Given the description of an element on the screen output the (x, y) to click on. 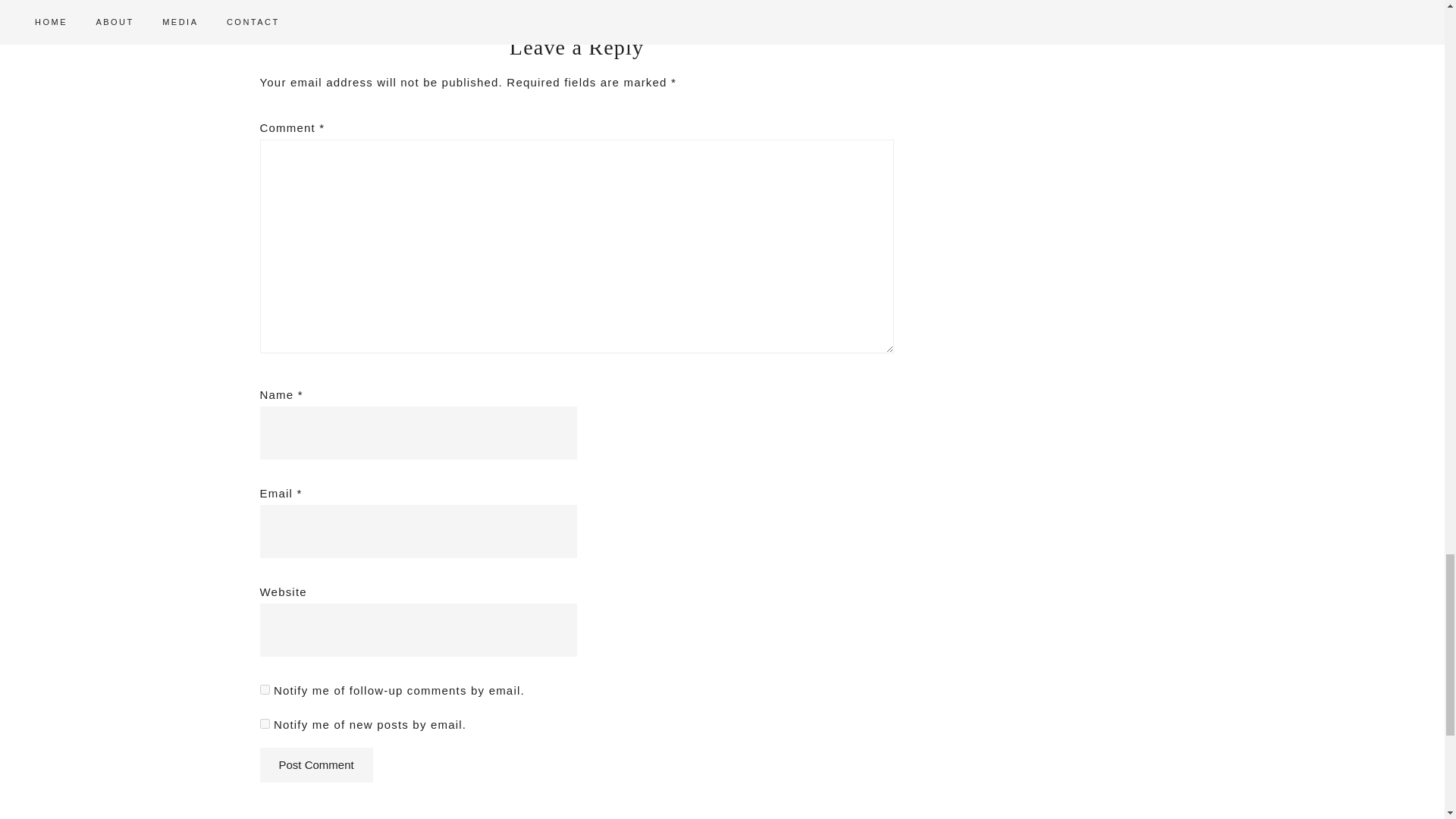
Post Comment (315, 764)
subscribe (264, 723)
Post Comment (315, 764)
subscribe (264, 689)
